Given the description of an element on the screen output the (x, y) to click on. 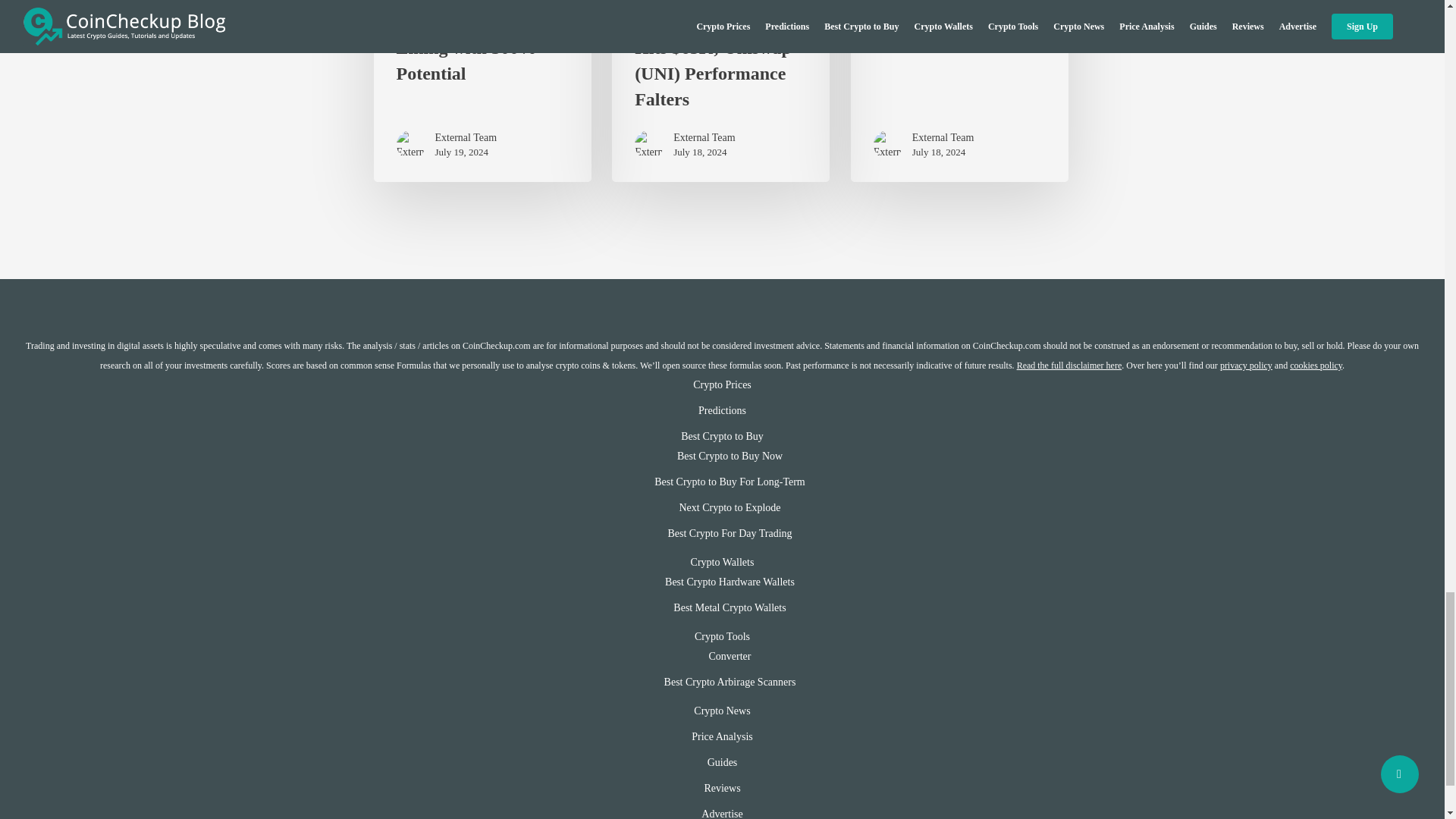
External Team (466, 137)
